Given the description of an element on the screen output the (x, y) to click on. 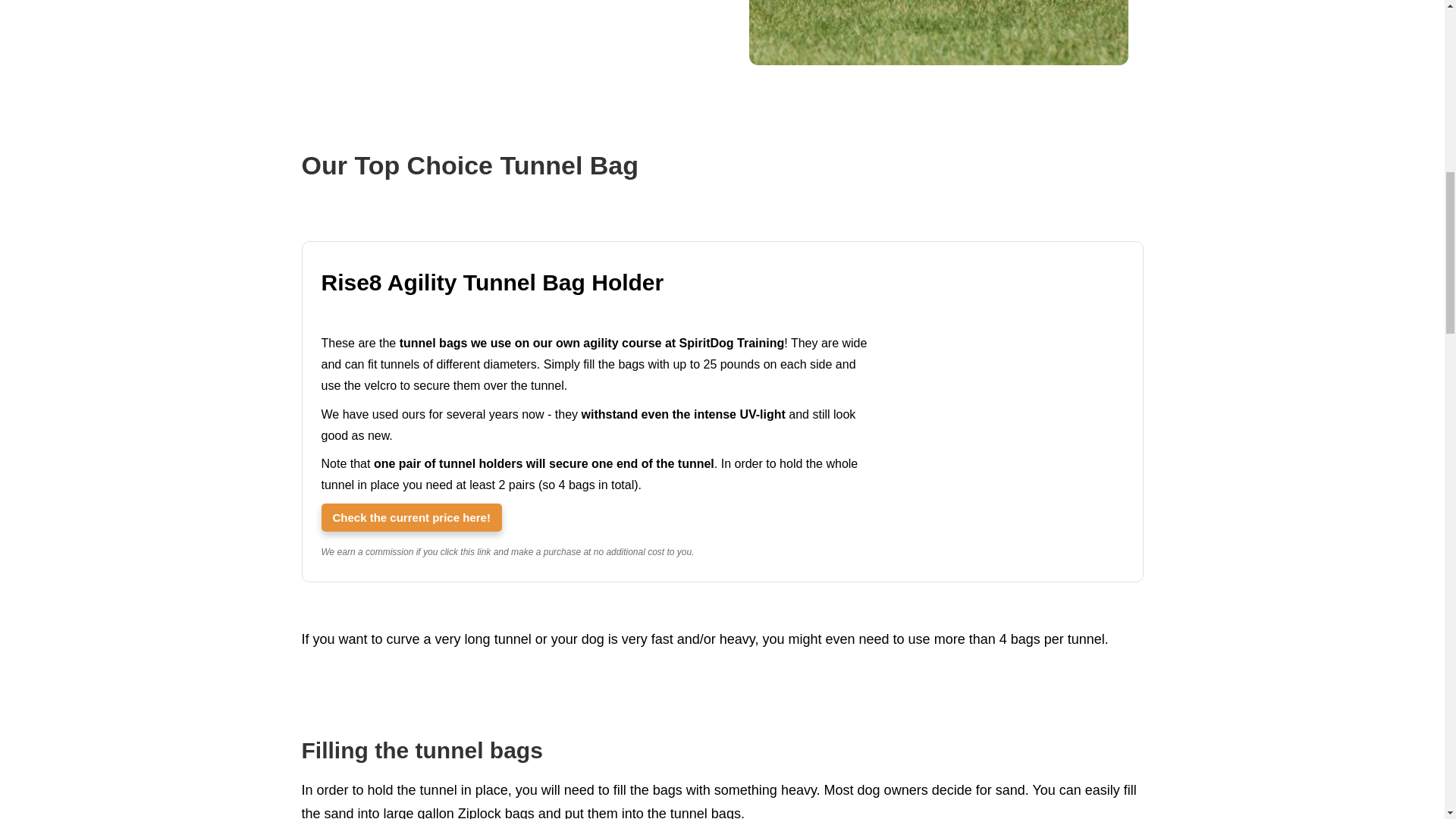
Rise8 Agility Tunnel Bag Holder (411, 517)
Rise8 Agility Tunnel Bag Holder (596, 282)
Check the current price here! (411, 517)
Rise8 Agility Tunnel Bag Holder (596, 282)
Rise8 Agility Tunnel Bag Holder (1007, 275)
